Given the description of an element on the screen output the (x, y) to click on. 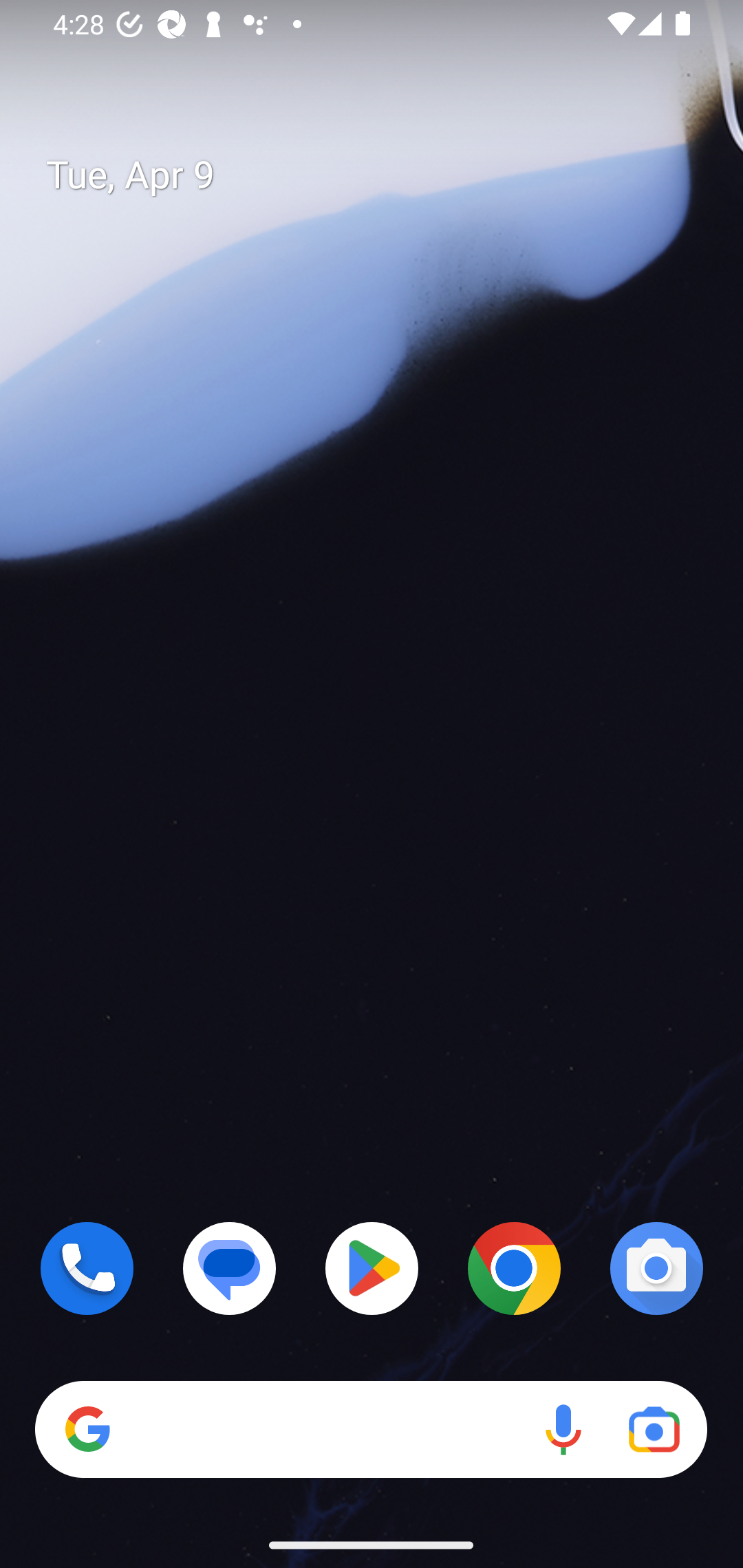
Tue, Apr 9 (386, 175)
Phone (86, 1268)
Messages (229, 1268)
Play Store (371, 1268)
Chrome (513, 1268)
Camera (656, 1268)
Voice search (562, 1429)
Google Lens (653, 1429)
